Given the description of an element on the screen output the (x, y) to click on. 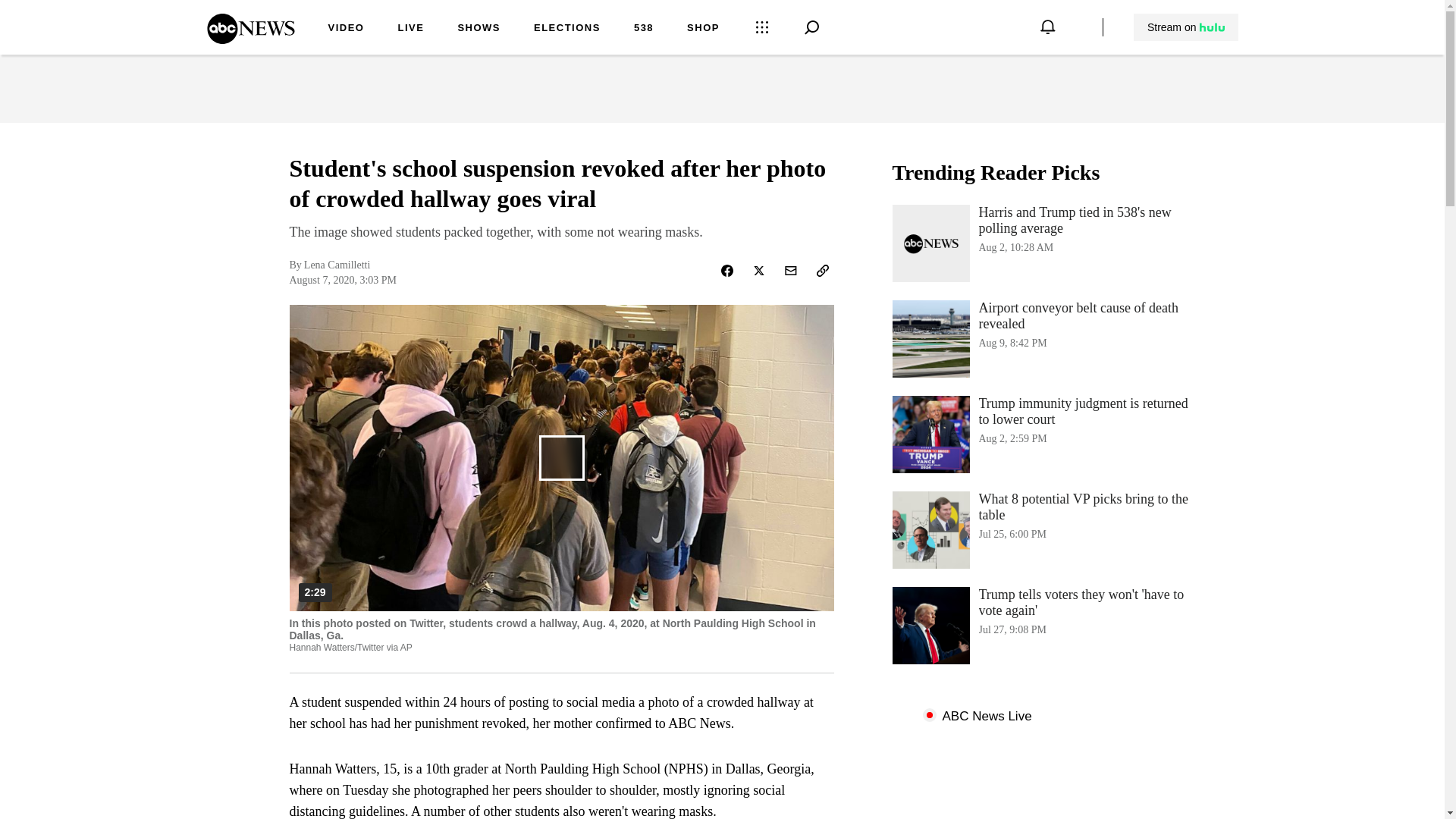
538 (643, 28)
Stream on (1185, 27)
LIVE (410, 28)
VIDEO (345, 28)
ELECTIONS (566, 28)
SHOP (1043, 338)
